Given the description of an element on the screen output the (x, y) to click on. 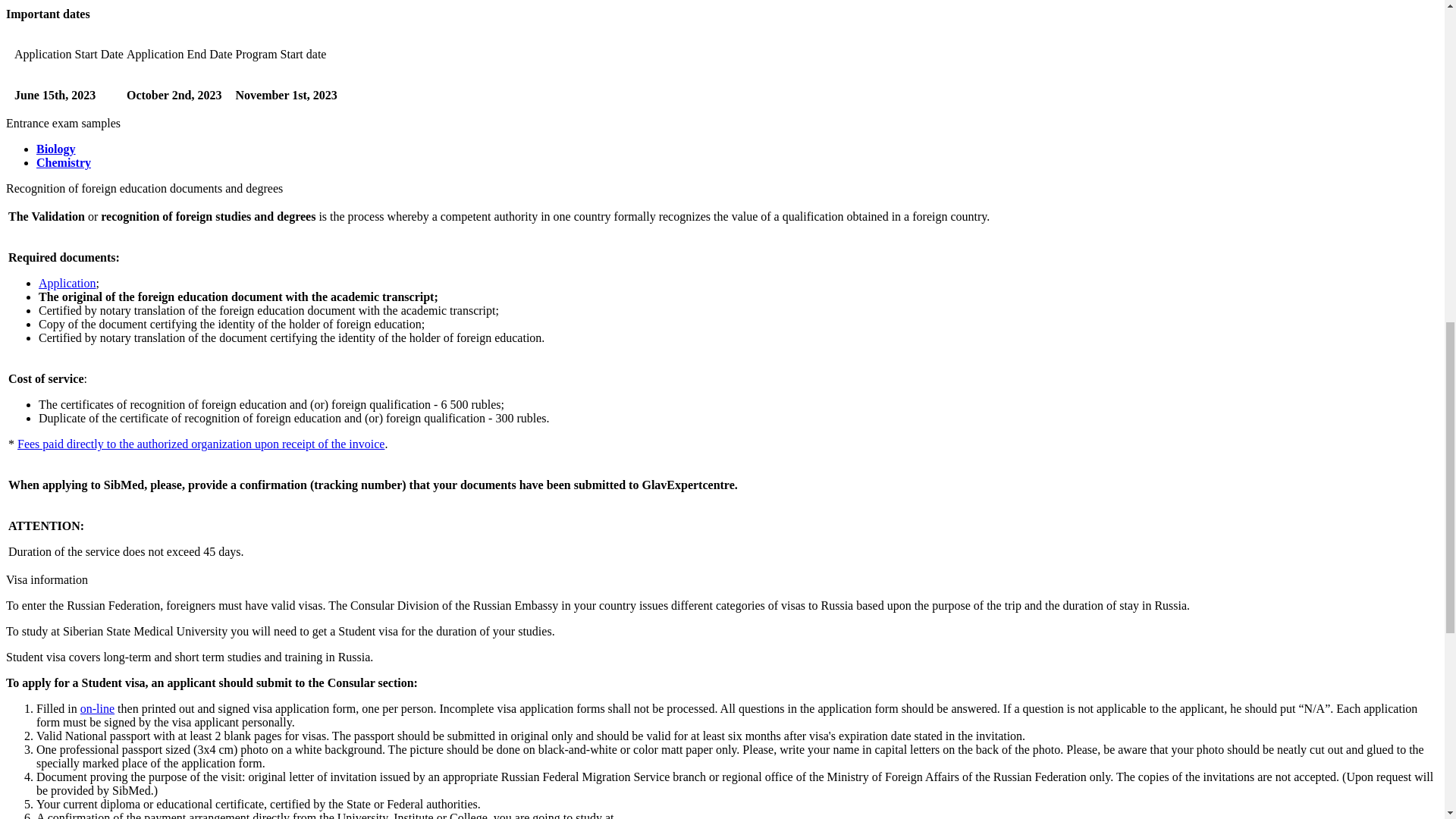
Biology (55, 148)
Entrance exam samples (62, 123)
on-line (97, 707)
Chemistry (63, 162)
Application (67, 282)
Recognition of foreign education documents and degrees (143, 187)
Visa information (46, 579)
